Given the description of an element on the screen output the (x, y) to click on. 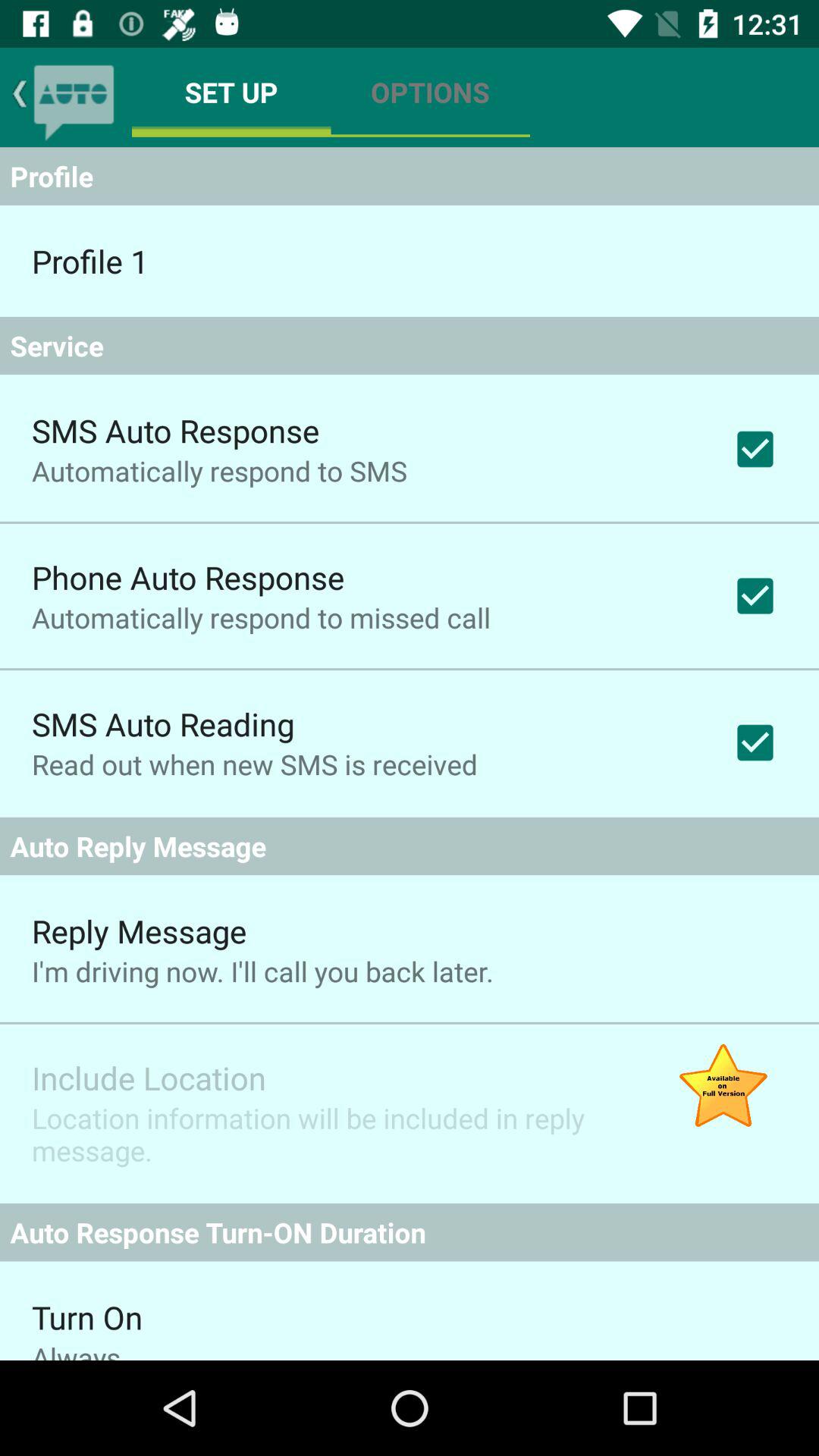
select item to the left of the set up app (73, 97)
